Given the description of an element on the screen output the (x, y) to click on. 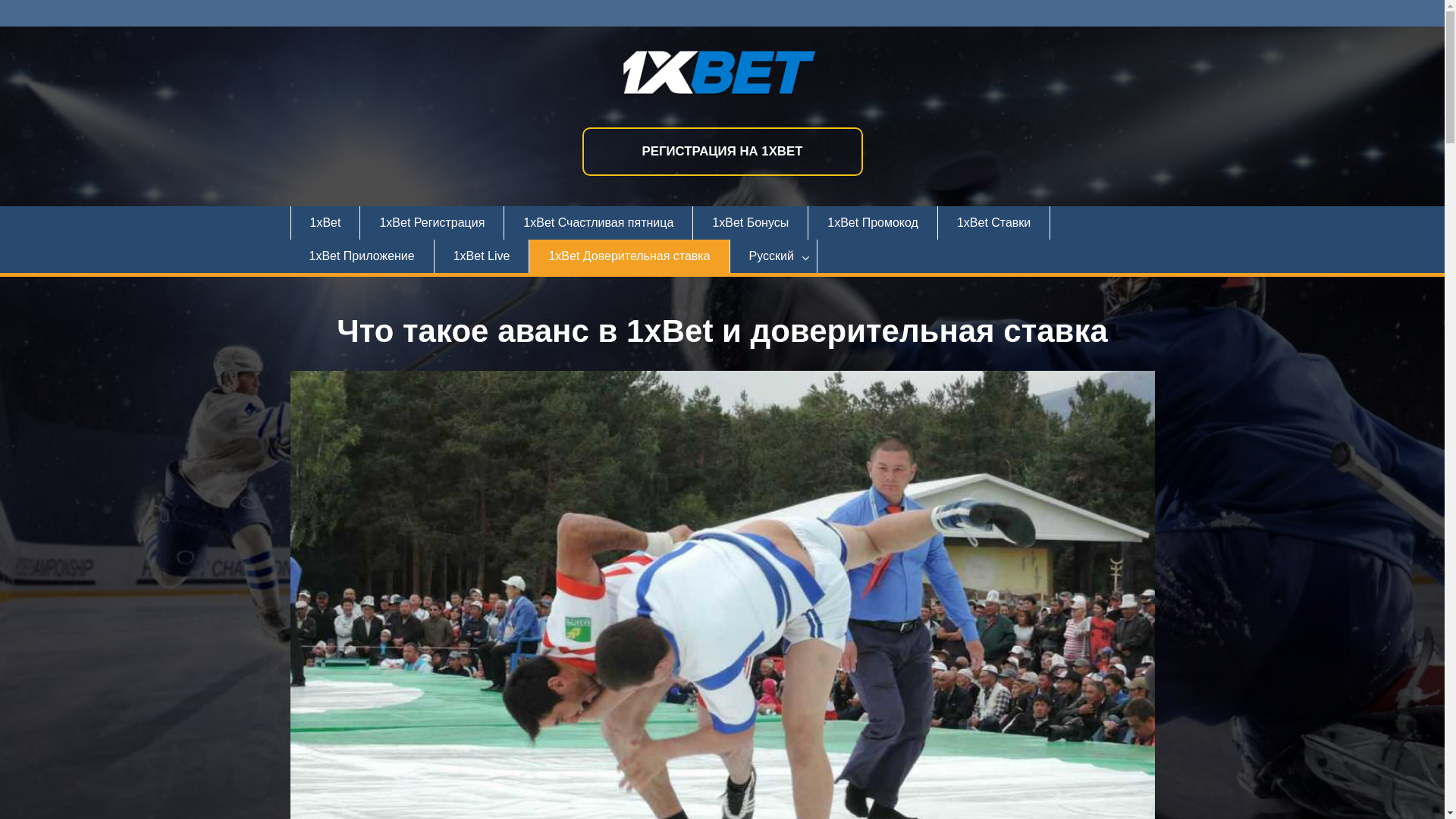
1xBet Element type: text (324, 222)
1xBet Live Element type: text (482, 256)
